Given the description of an element on the screen output the (x, y) to click on. 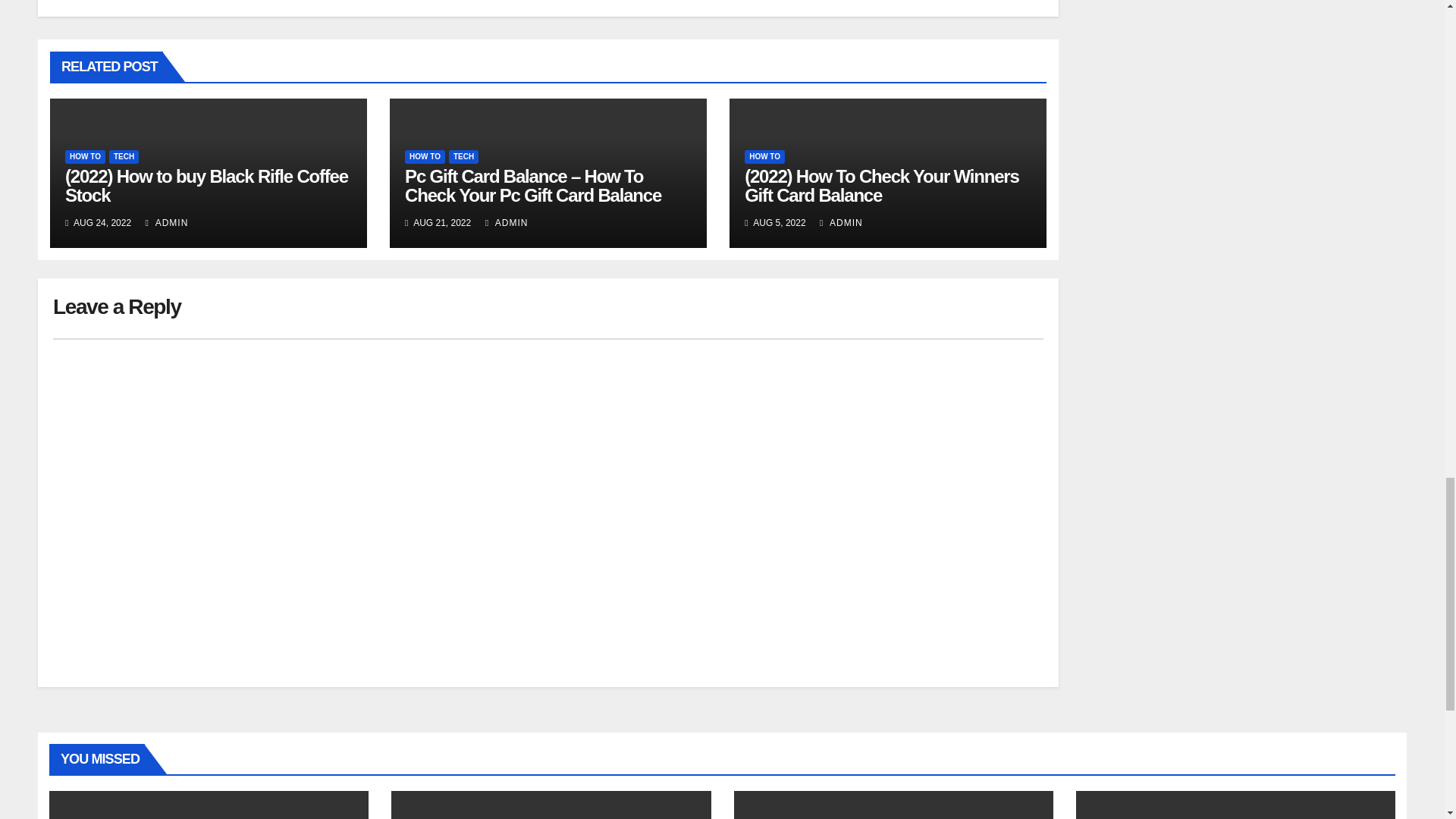
HOW TO (764, 156)
TECH (123, 156)
HOW TO (424, 156)
TECH (463, 156)
ADMIN (167, 222)
HOW TO (84, 156)
ADMIN (506, 222)
